Given the description of an element on the screen output the (x, y) to click on. 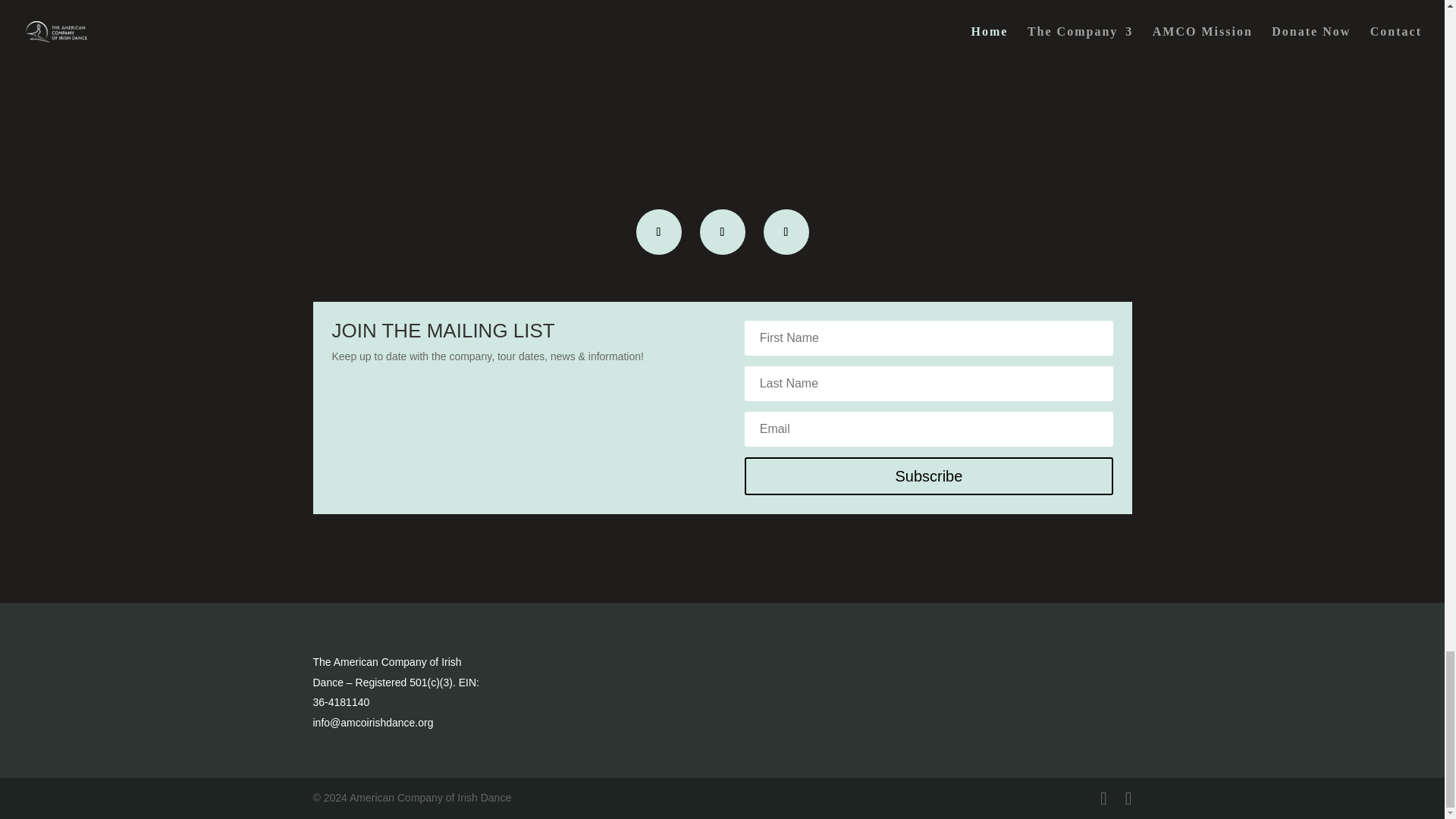
Subscribe (928, 476)
Follow on Facebook (657, 231)
Follow on Instagram (721, 231)
Follow on Youtube (785, 231)
